Given the description of an element on the screen output the (x, y) to click on. 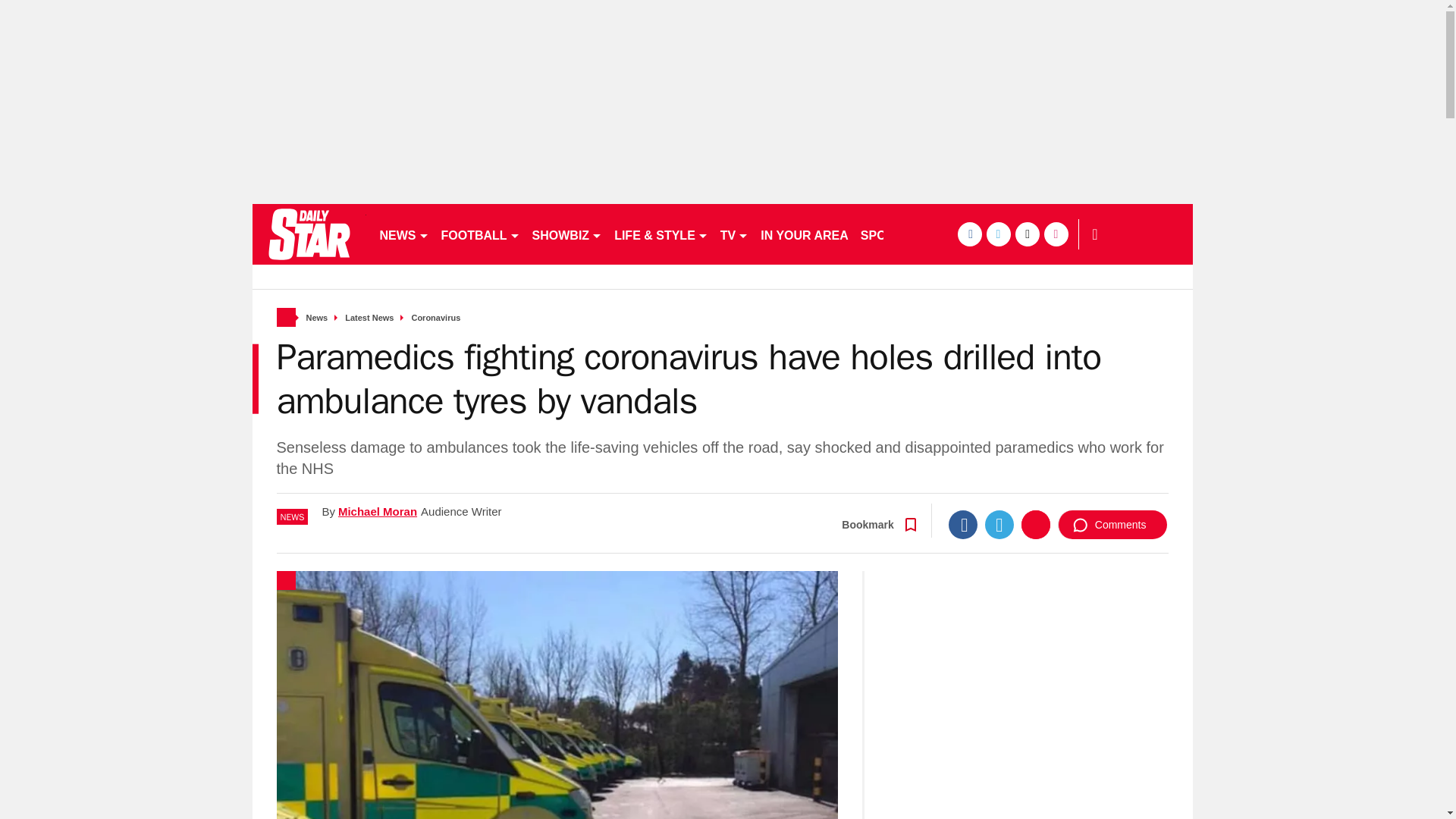
facebook (968, 233)
Comments (1112, 524)
Twitter (999, 524)
instagram (1055, 233)
tiktok (1026, 233)
SHOWBIZ (566, 233)
Facebook (962, 524)
dailystar (308, 233)
FOOTBALL (480, 233)
NEWS (402, 233)
twitter (997, 233)
